Given the description of an element on the screen output the (x, y) to click on. 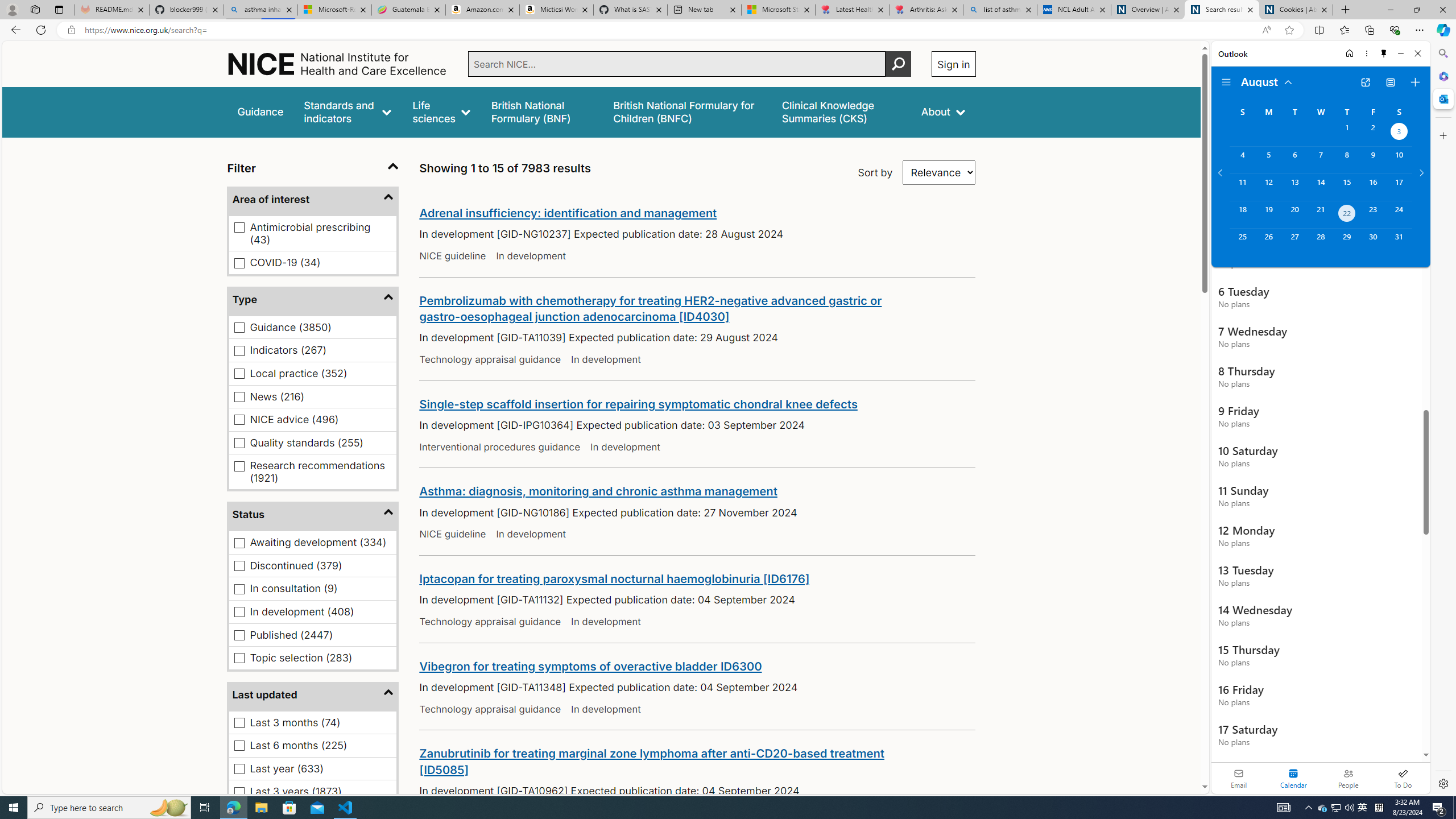
Vibegron for treating symptoms of overactive bladder ID6300 (590, 665)
Guidance (3850) (239, 326)
Friday, August 30, 2024.  (1372, 241)
About (942, 111)
Thursday, August 1, 2024.  (1346, 132)
Wednesday, August 21, 2024.  (1320, 214)
Sunday, August 18, 2024.  (1242, 214)
Wednesday, August 28, 2024.  (1320, 241)
